Given the description of an element on the screen output the (x, y) to click on. 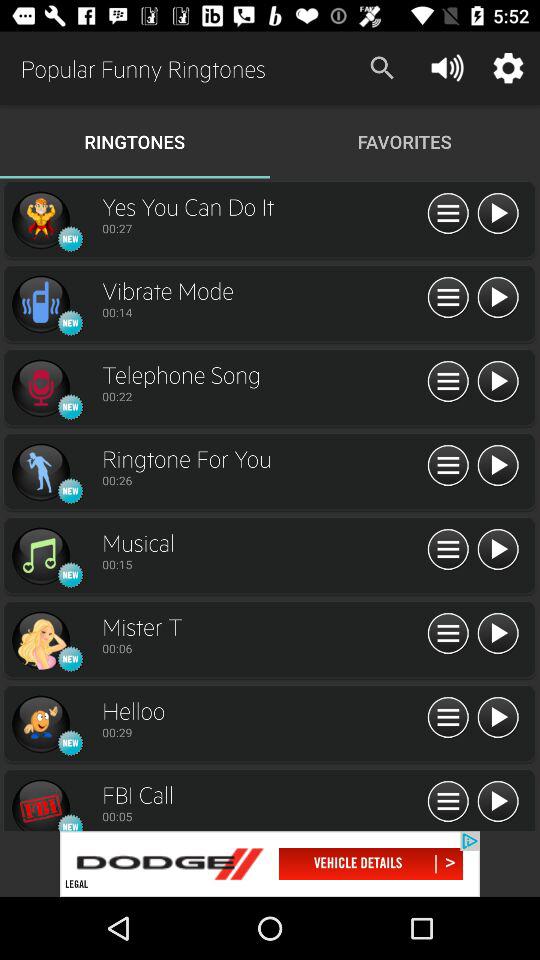
play user (497, 465)
